Given the description of an element on the screen output the (x, y) to click on. 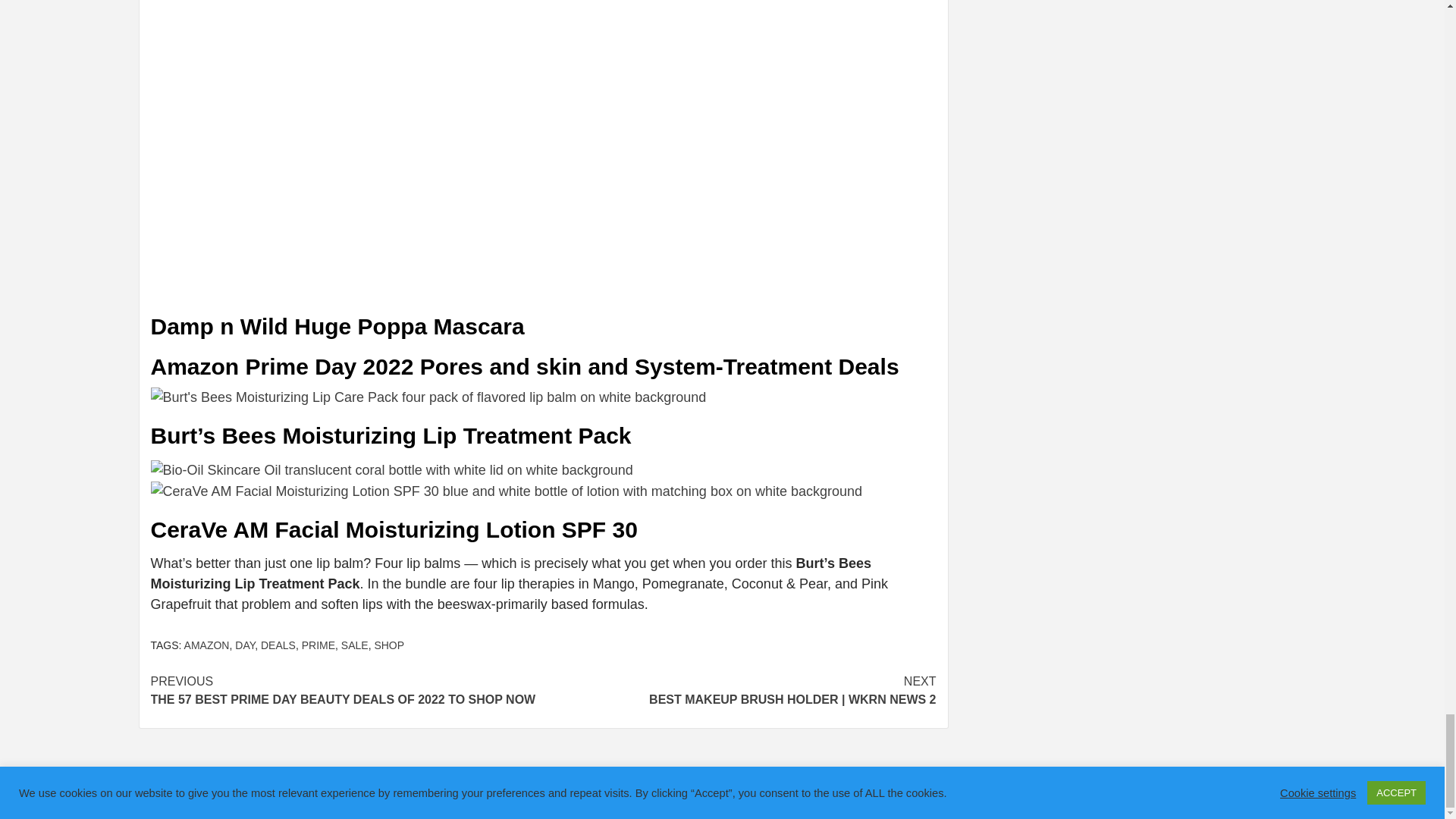
DAY (244, 645)
DEALS (277, 645)
PRIME (317, 645)
SALE (354, 645)
AMAZON (207, 645)
SHOP (389, 645)
